Given the description of an element on the screen output the (x, y) to click on. 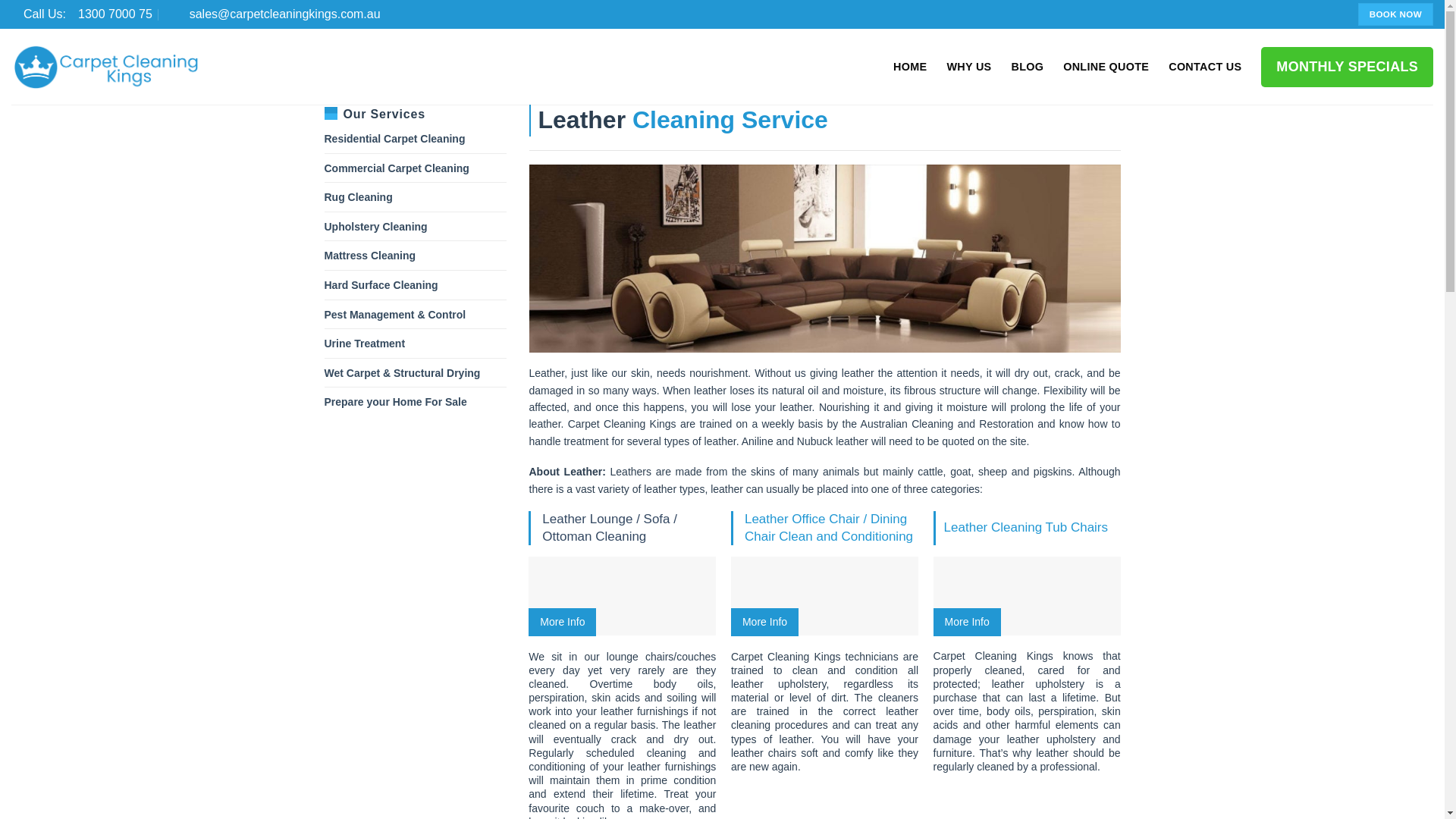
CONTACT US (1205, 67)
ONLINE QUOTE (1105, 67)
MONTHLY SPECIALS (1346, 67)
Mattress Cleaning (370, 255)
Rug Cleaning (358, 196)
Residential Carpet Cleaning (394, 138)
BOOK NOW (1395, 14)
Carpet Cleaning Kings - Australia's Best Carpet Cleaners (81, 13)
Upholstery Cleaning (105, 67)
Hard Surface Cleaning (376, 226)
Commercial Carpet Cleaning (381, 285)
